Given the description of an element on the screen output the (x, y) to click on. 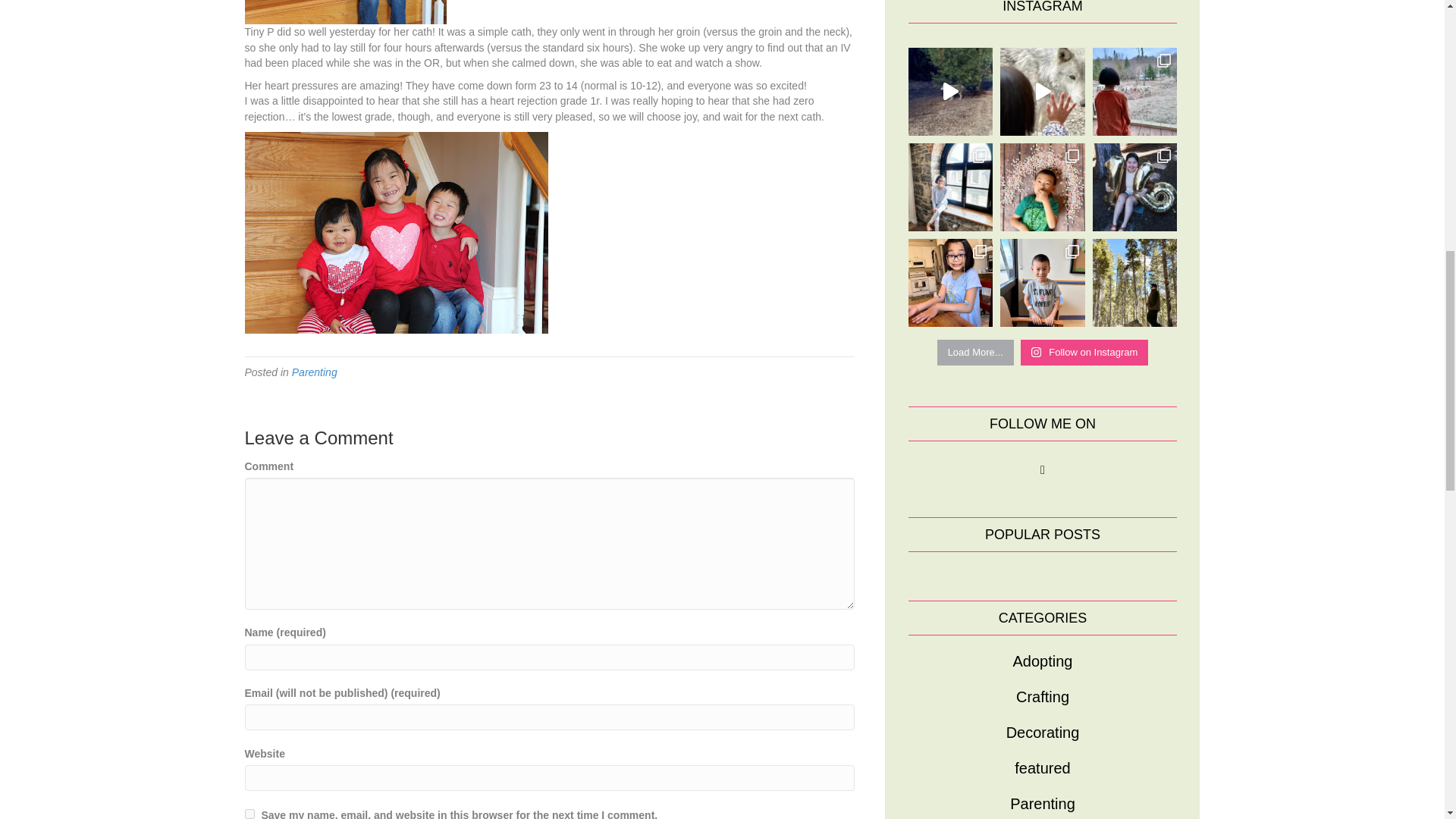
yes (248, 814)
Parenting (314, 372)
